Given the description of an element on the screen output the (x, y) to click on. 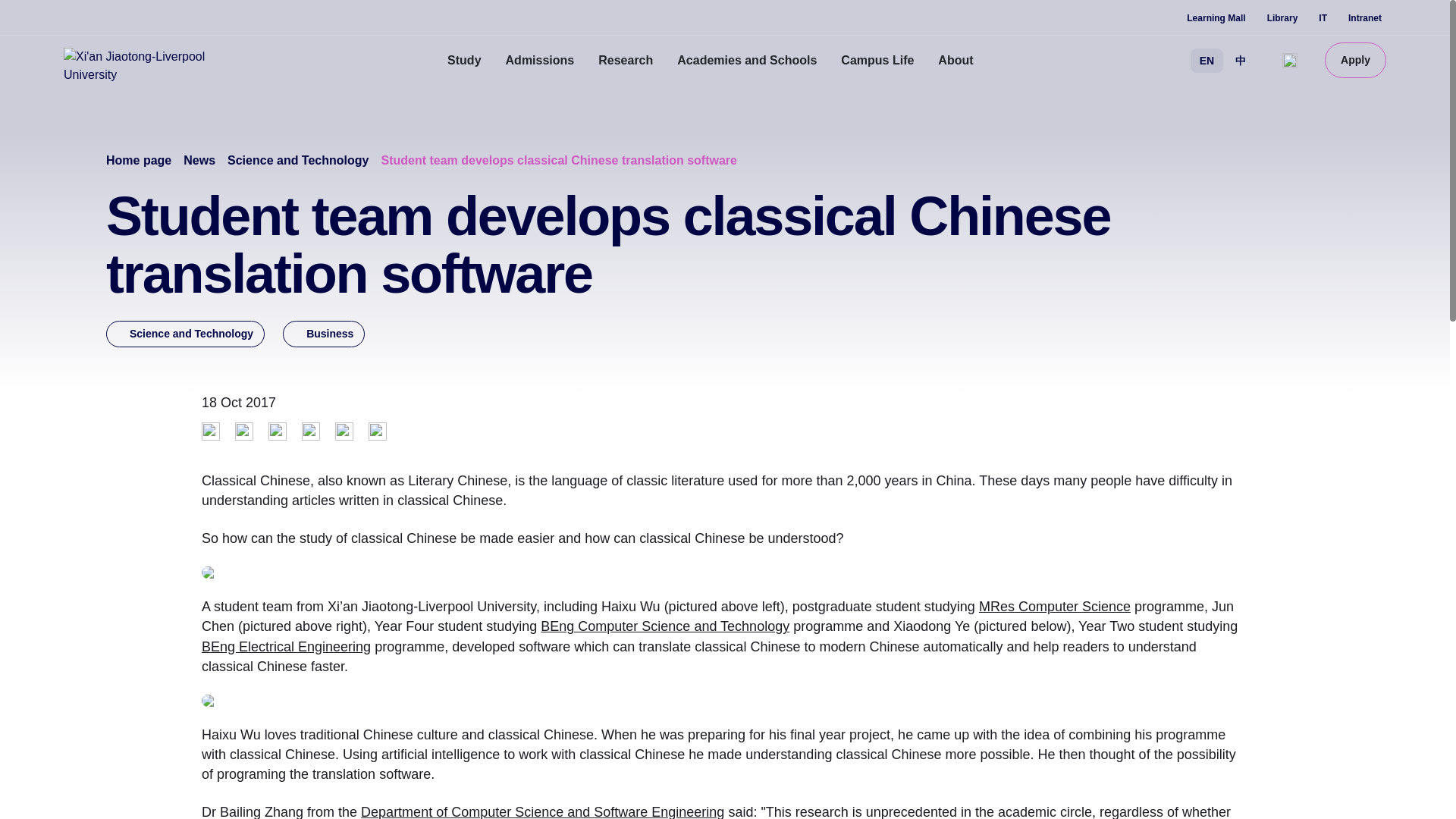
Library (1282, 18)
Study (464, 60)
Intranet (1364, 18)
Learning Mall (1215, 18)
Admissions (539, 60)
